Given the description of an element on the screen output the (x, y) to click on. 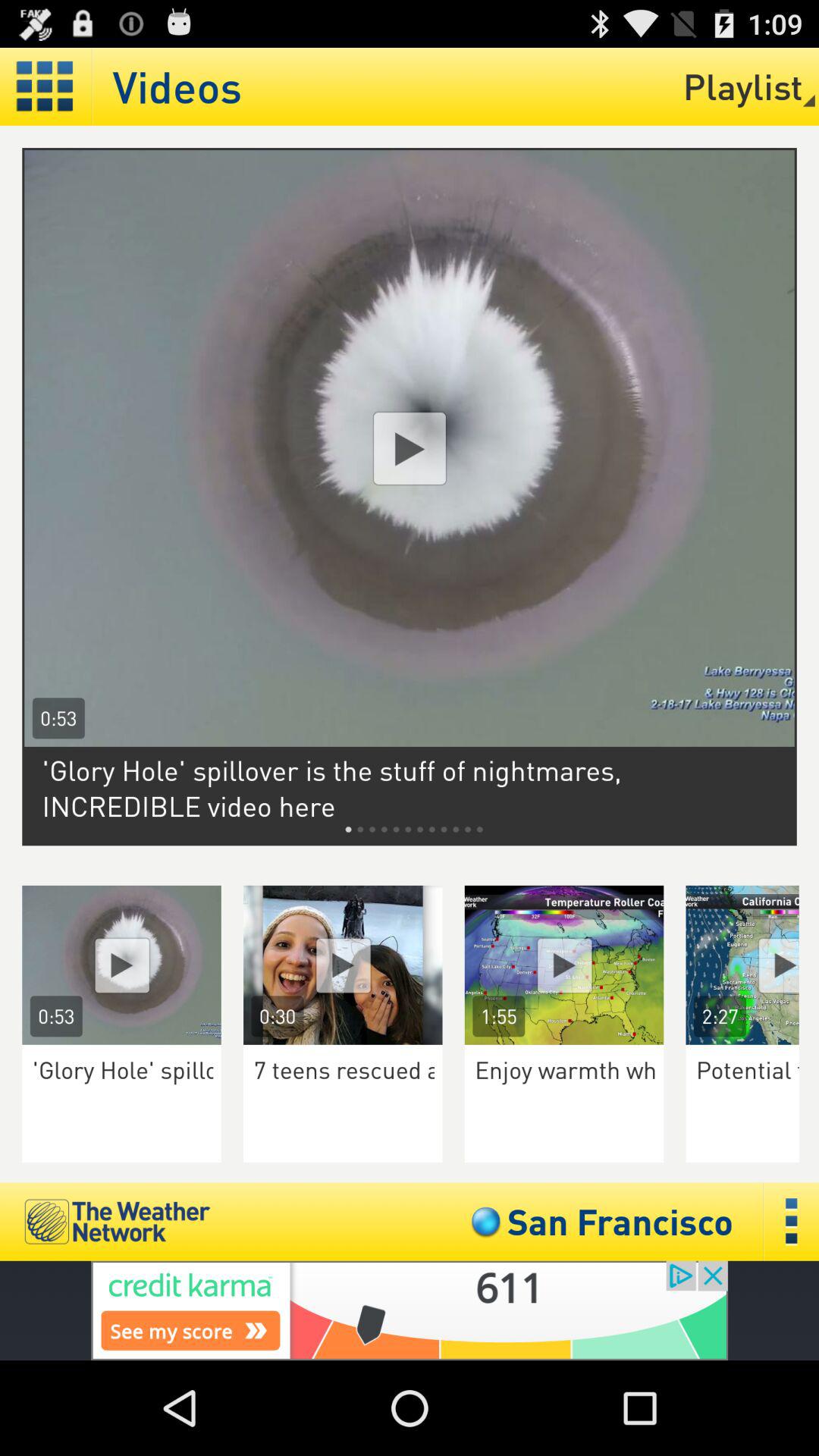
click to go to credit karma app (409, 1310)
